Given the description of an element on the screen output the (x, y) to click on. 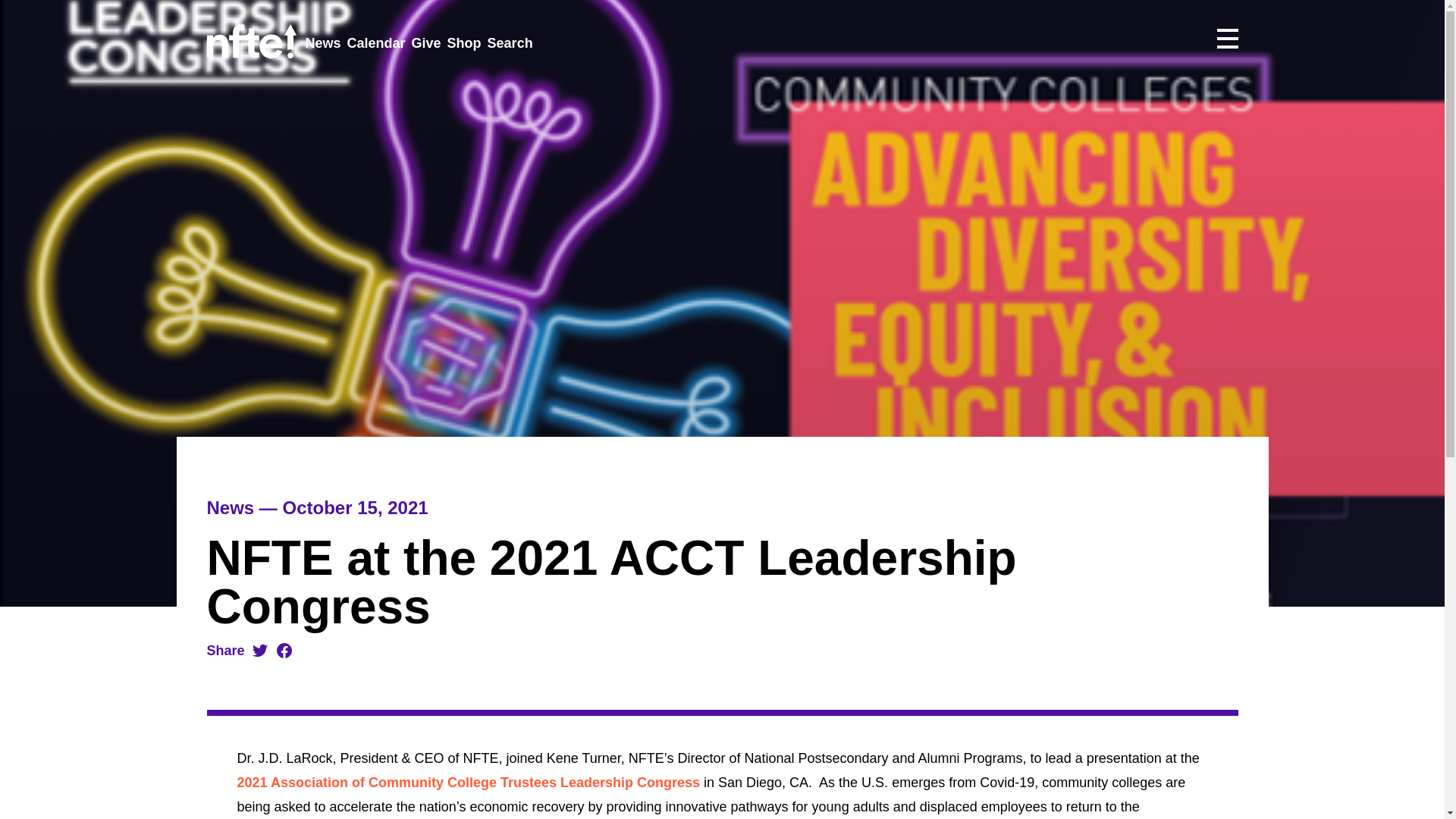
News (322, 43)
Search (509, 43)
Shop (463, 43)
Calendar (376, 43)
Give (426, 43)
